Given the description of an element on the screen output the (x, y) to click on. 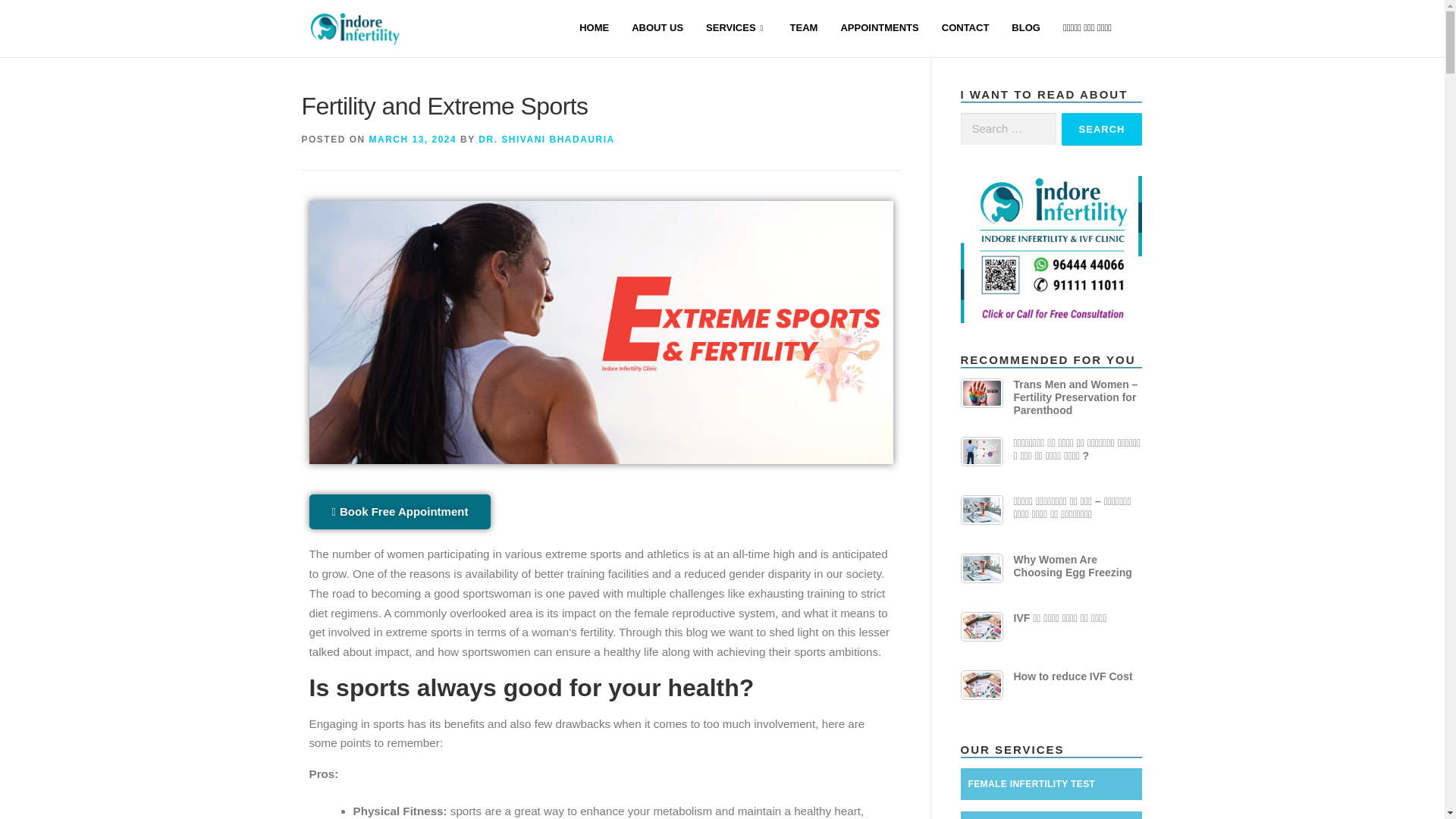
ABOUT US (657, 28)
APPOINTMENTS (879, 28)
HOME (593, 28)
CONTACT (965, 28)
SERVICES (736, 28)
BLOG (1025, 28)
Search (1101, 129)
Search (1101, 129)
TEAM (803, 28)
